Given the description of an element on the screen output the (x, y) to click on. 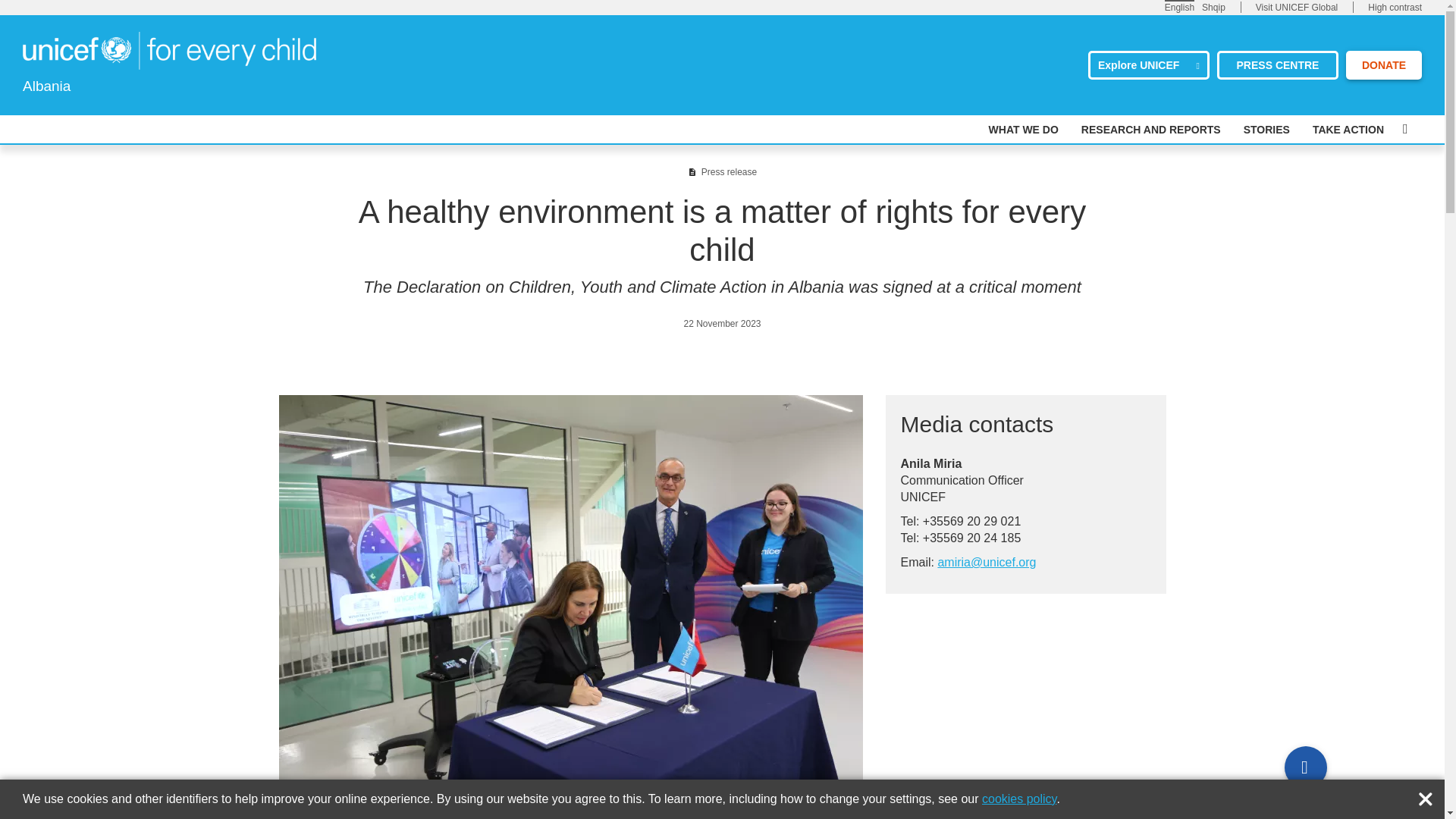
Albania (169, 50)
RESEARCH AND REPORTS (1151, 129)
PRESS CENTRE (1277, 63)
TAKE ACTION (1348, 129)
Shqip (1213, 6)
Explore UNICEF (1148, 63)
High contrast (1395, 7)
Explore UNICEF  (1148, 63)
UNICEF (169, 49)
